Given the description of an element on the screen output the (x, y) to click on. 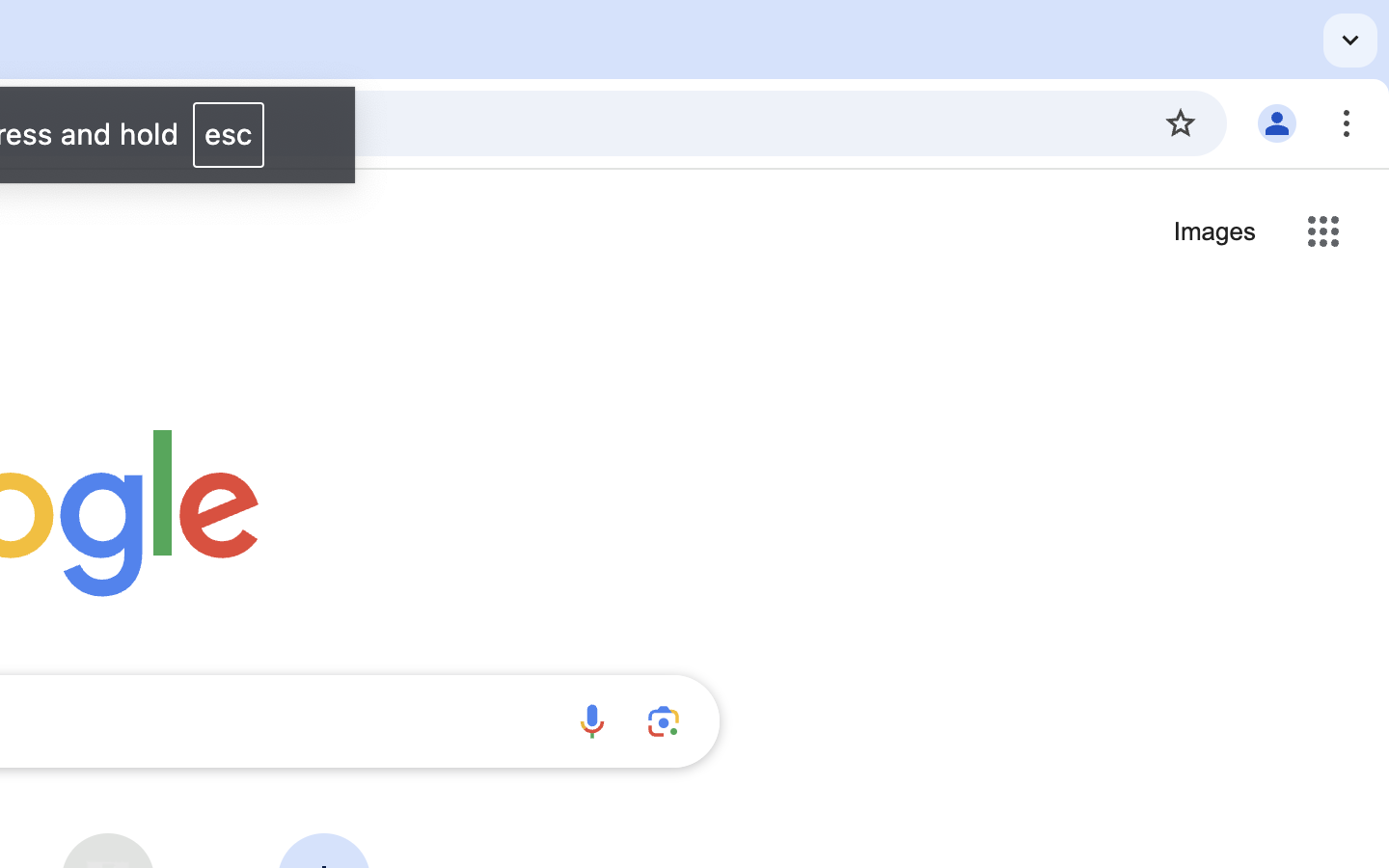
Images Element type: AXStaticText (1213, 231)
